Given the description of an element on the screen output the (x, y) to click on. 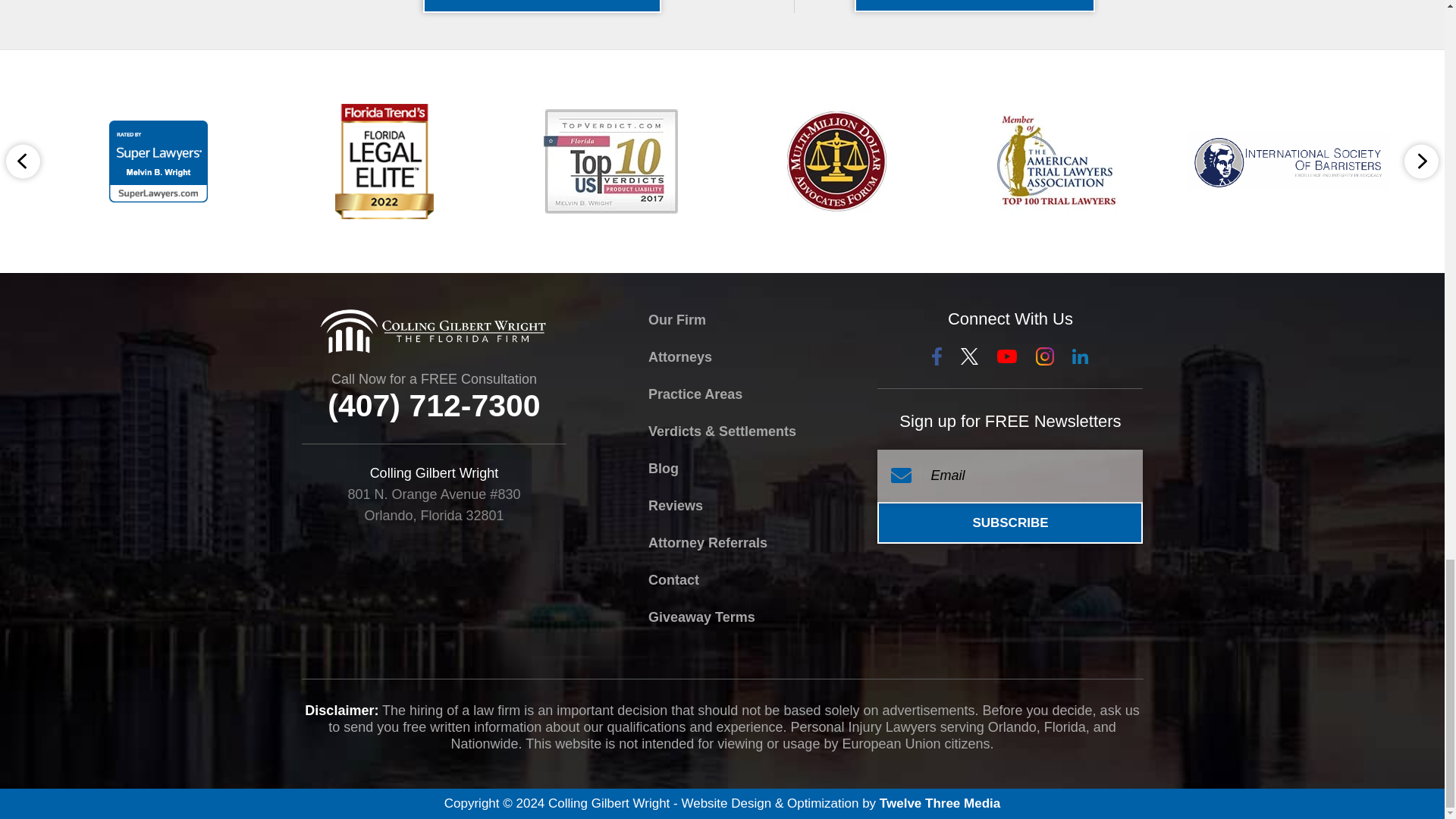
Subscribe (1009, 521)
